Given the description of an element on the screen output the (x, y) to click on. 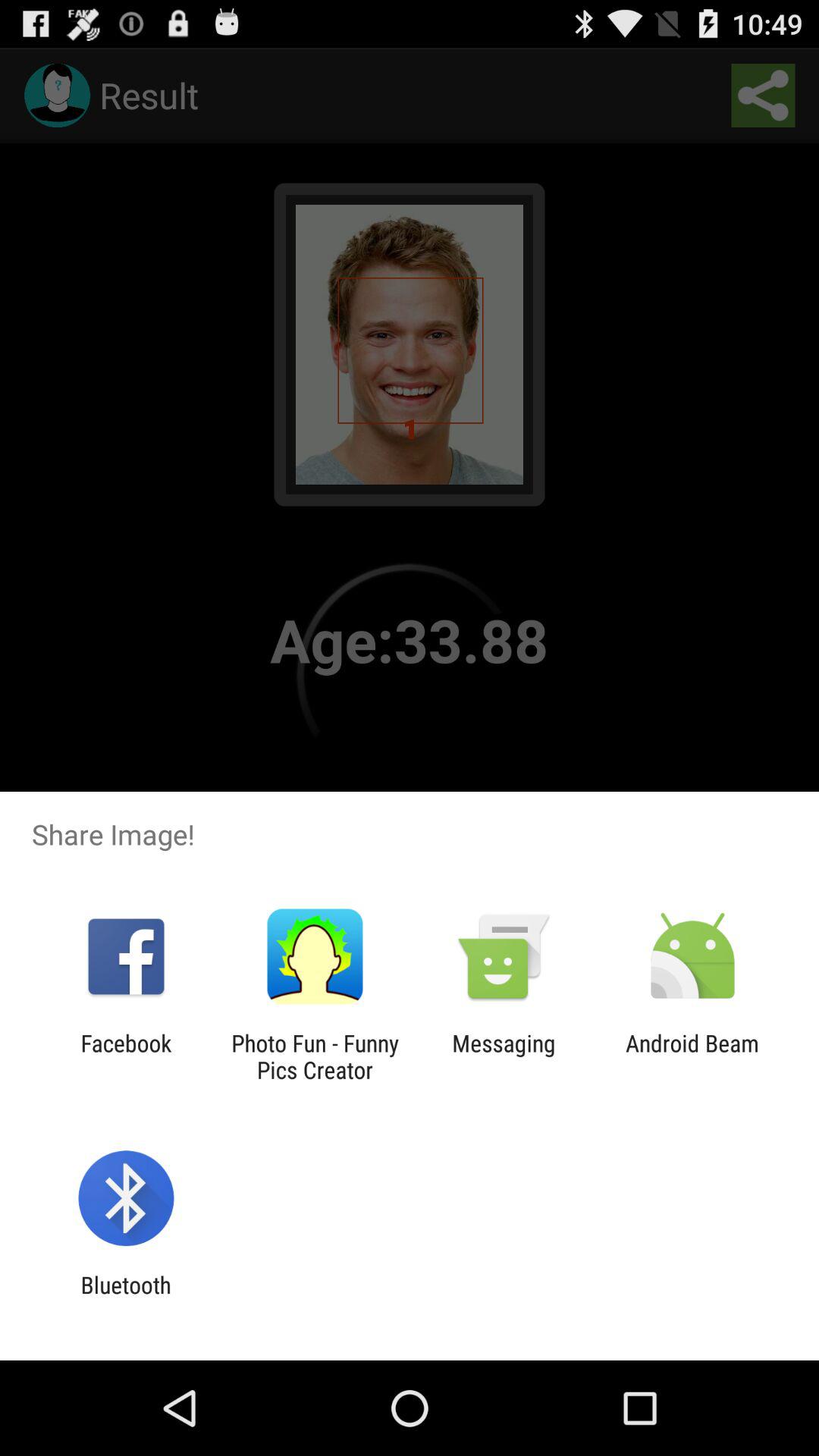
select the bluetooth app (125, 1298)
